Given the description of an element on the screen output the (x, y) to click on. 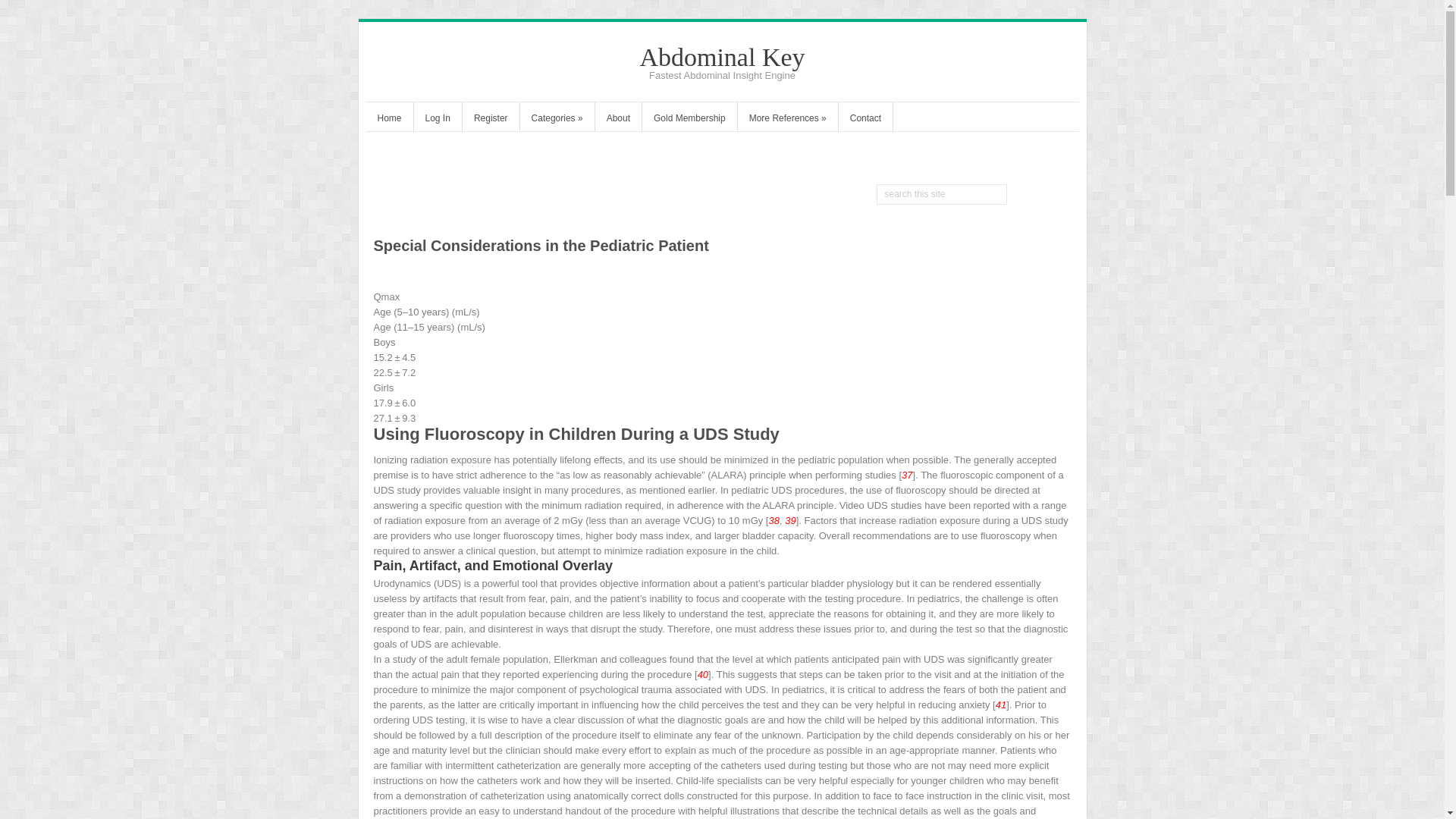
About (618, 119)
Abdominal Key (722, 57)
Gold Membership (689, 119)
Log In (437, 119)
Contact (865, 119)
Home (388, 119)
Abdominal Key (722, 57)
Register (491, 119)
